Given the description of an element on the screen output the (x, y) to click on. 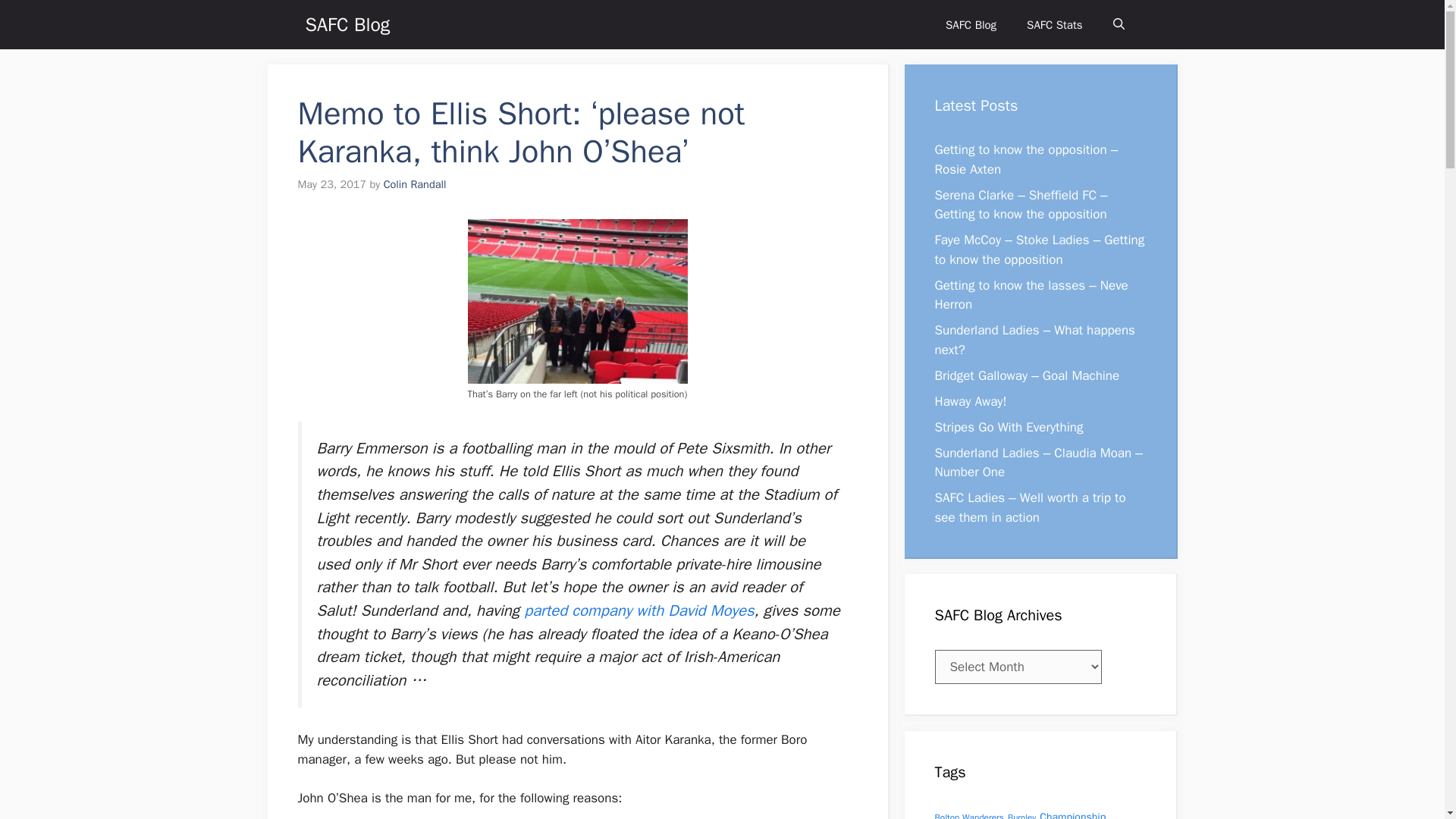
SAFC Stats (1054, 23)
parted company with David Moyes (639, 609)
Haway Away! (970, 400)
SAFC Blog (970, 23)
View all posts by Colin Randall (415, 183)
Burnley (1021, 815)
Bolton Wanderers (968, 815)
Stripes Go With Everything (1008, 426)
Championship (1072, 814)
Colin Randall (415, 183)
SAFC Blog (347, 24)
